Given the description of an element on the screen output the (x, y) to click on. 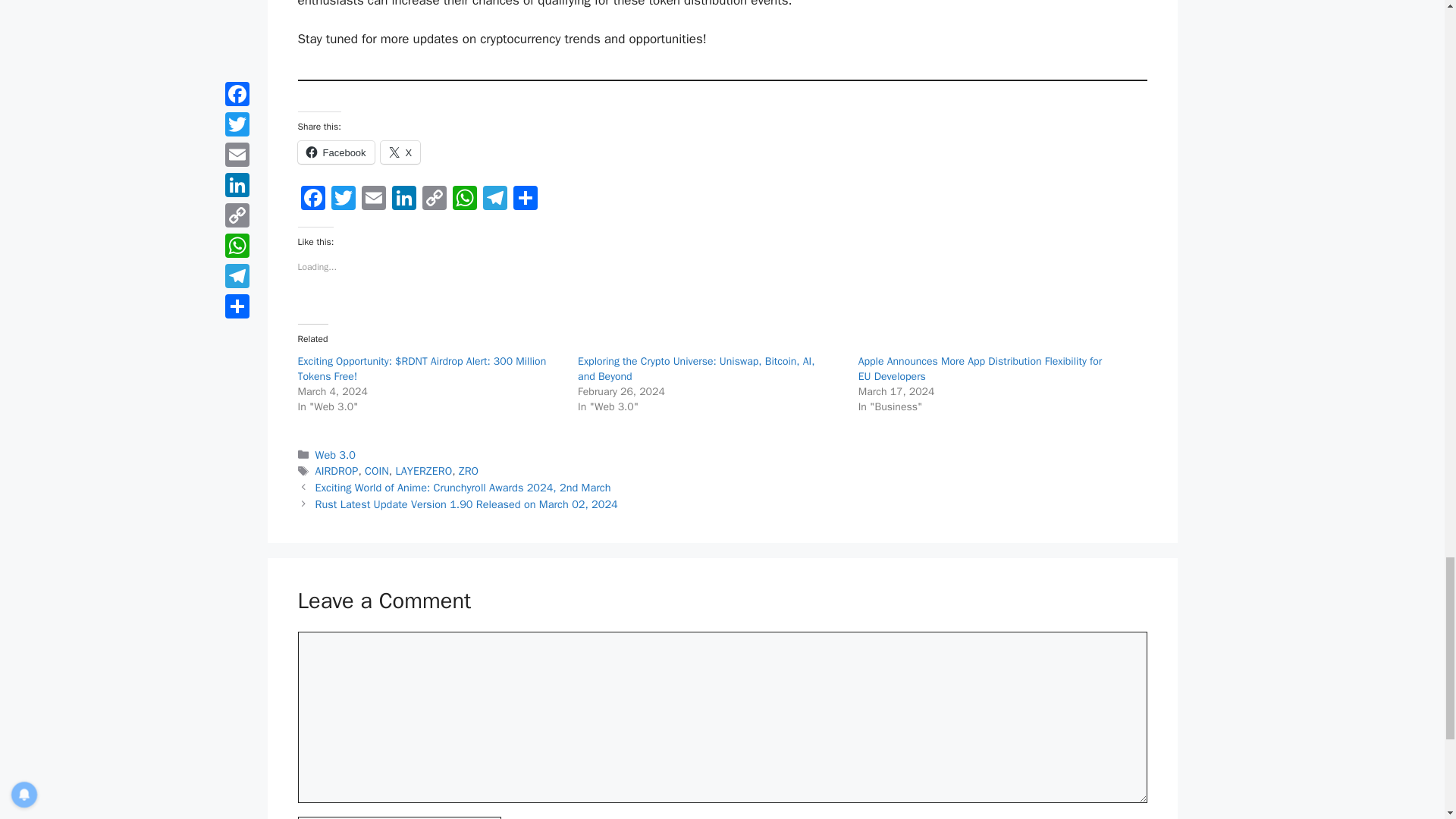
X (400, 151)
Facebook (335, 151)
Facebook (312, 199)
Twitter (342, 199)
